Given the description of an element on the screen output the (x, y) to click on. 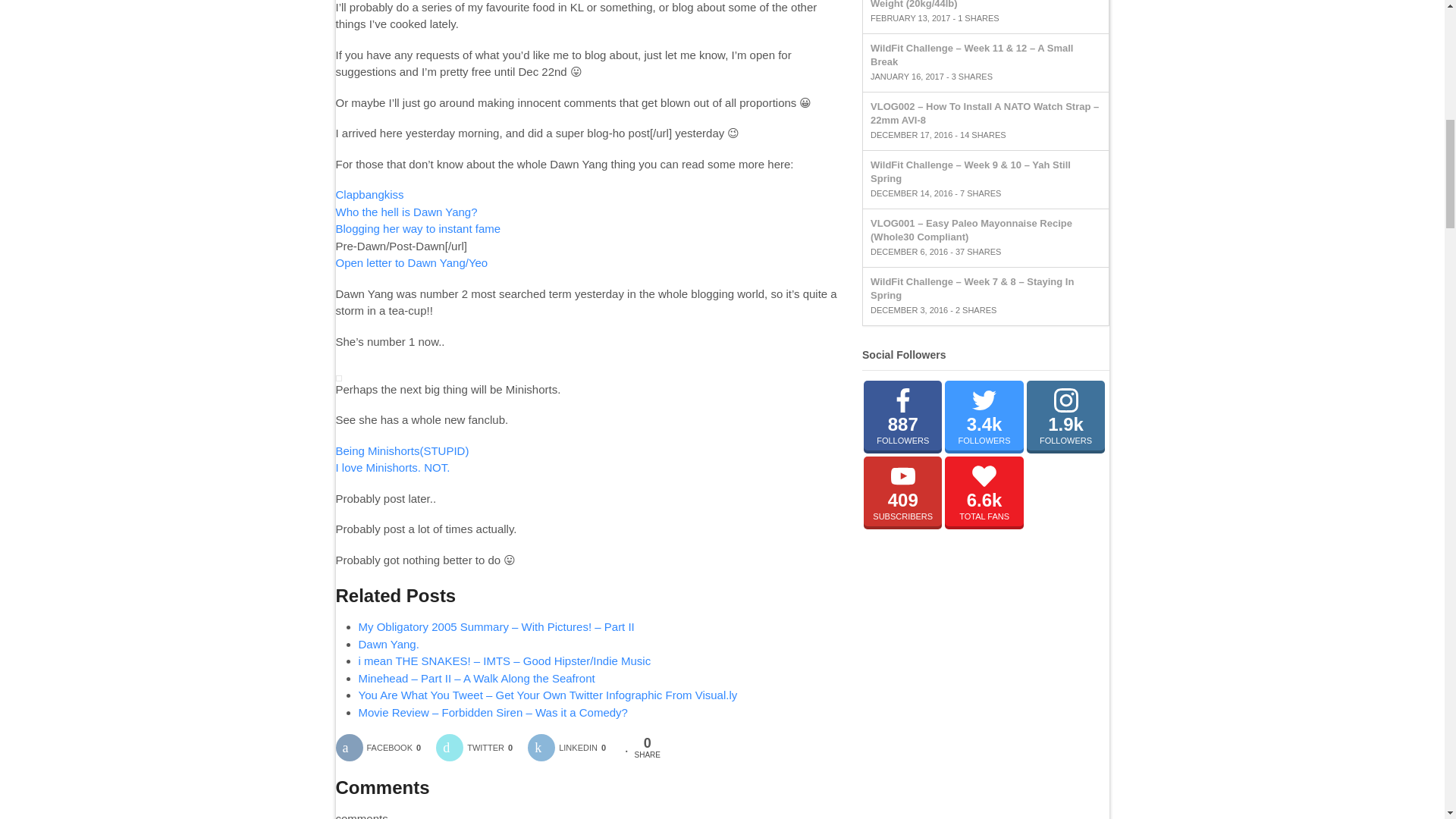
Clapbangkiss (368, 194)
LINKEDIN0 (572, 747)
Blogging her way to instant fame (417, 228)
Share on Twitter (479, 747)
FACEBOOK0 (383, 747)
Dawn Yang. (388, 644)
Share on Facebook (383, 747)
Who the hell is Dawn Yang? (405, 211)
TWITTER0 (479, 747)
Share on LinkedIn (572, 747)
